Given the description of an element on the screen output the (x, y) to click on. 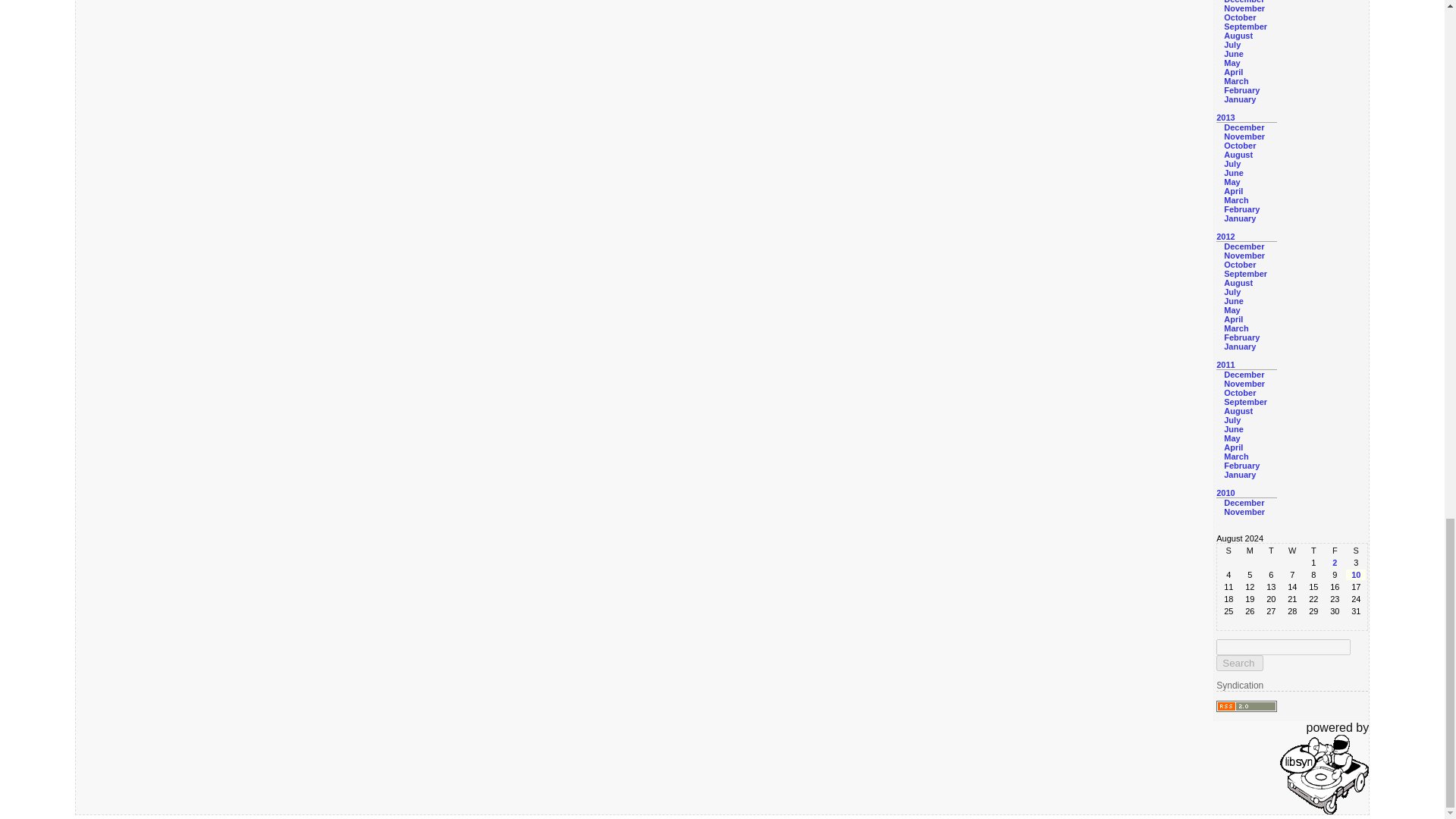
Thursday (1313, 550)
Friday (1333, 550)
Saturday (1355, 550)
Monday (1249, 550)
Sunday (1228, 550)
Wednesday (1291, 550)
Search  (1239, 662)
Tuesday (1270, 550)
